Given the description of an element on the screen output the (x, y) to click on. 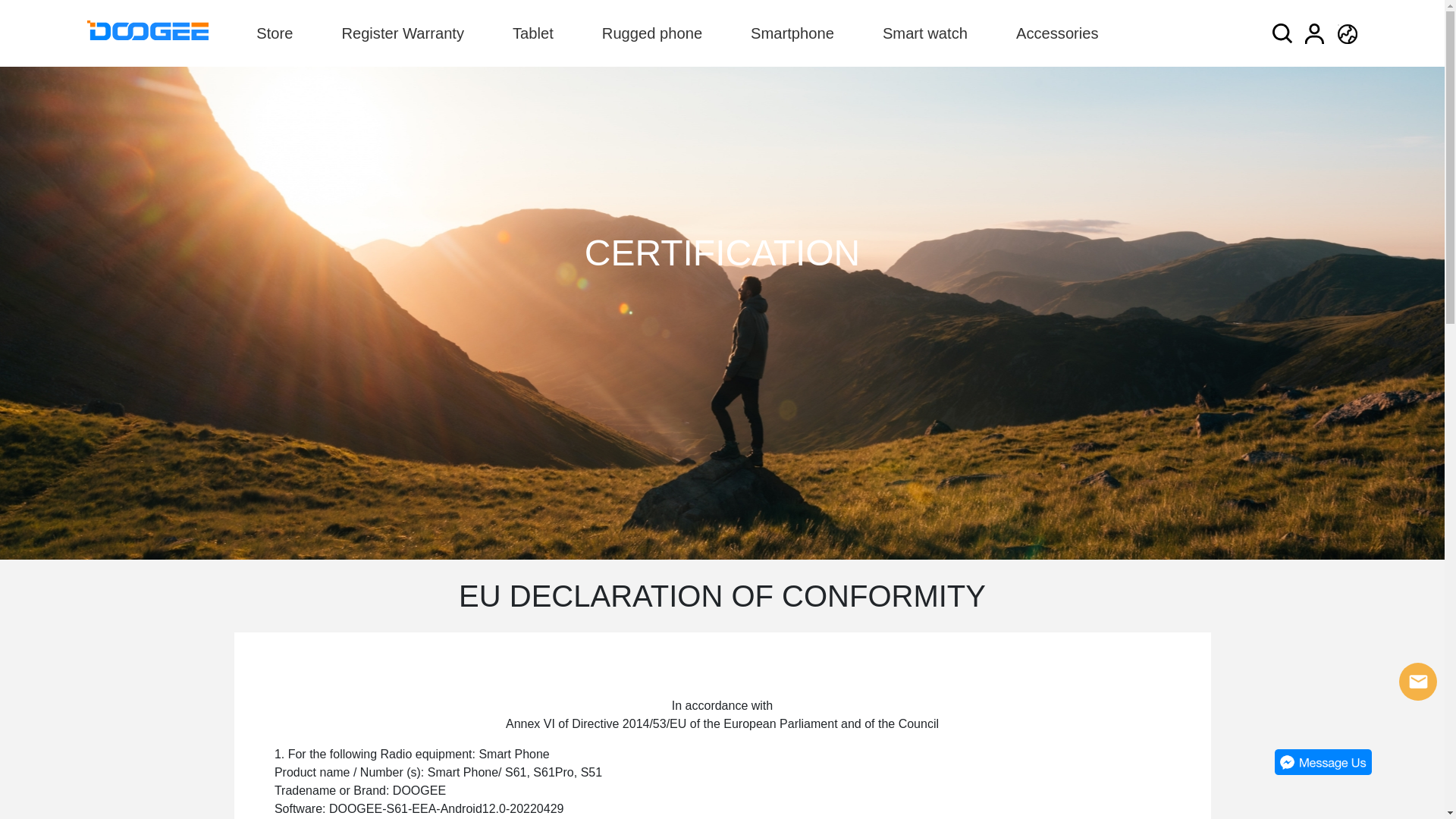
Smart watch Element type: text (924, 33)
Rugged phone Element type: text (652, 33)
Smartphone Element type: text (792, 33)
Store Element type: text (274, 33)
Register Warranty Element type: text (402, 33)
Accessories Element type: text (1057, 33)
Tablet Element type: text (532, 33)
